Given the description of an element on the screen output the (x, y) to click on. 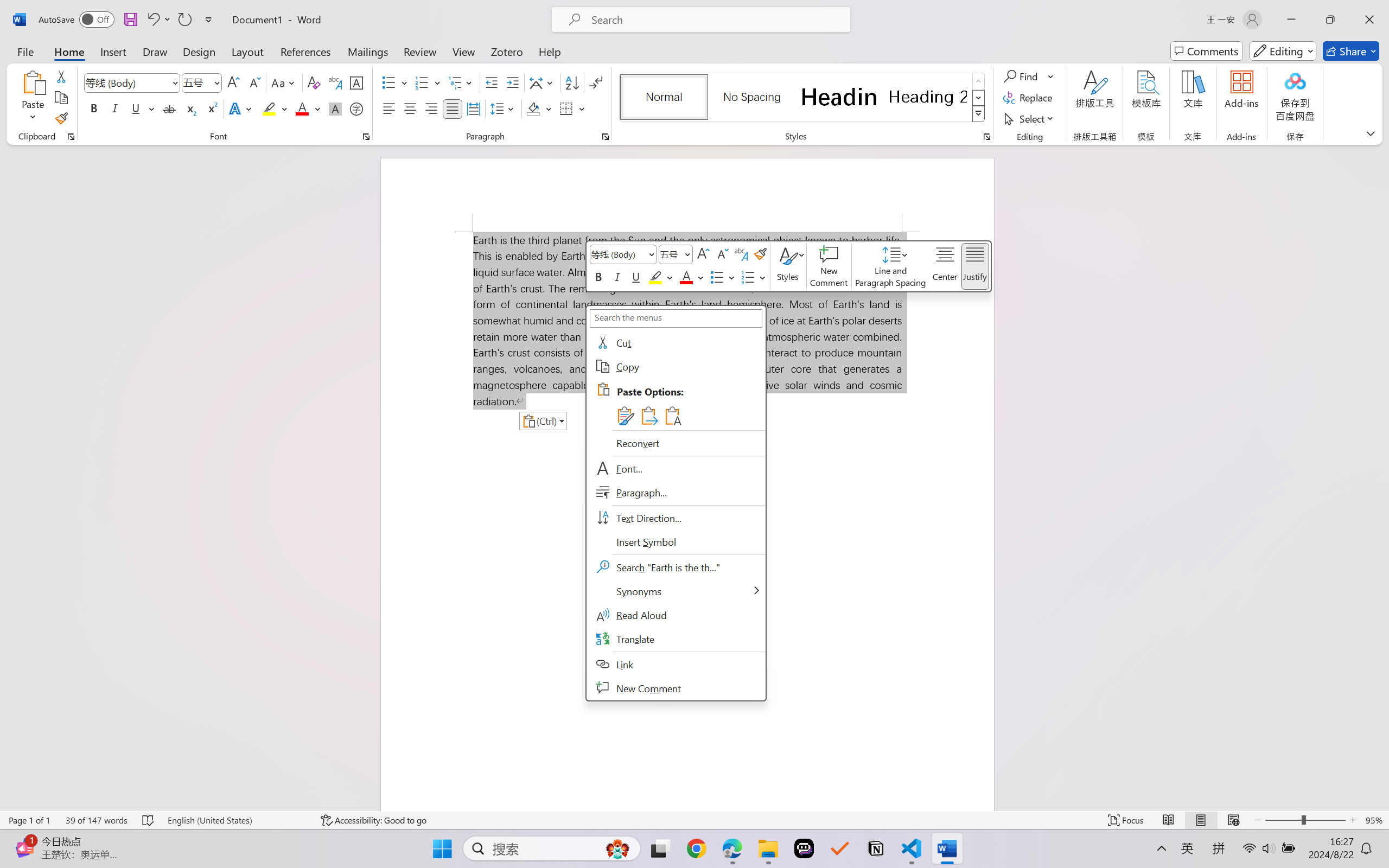
Styles (788, 266)
Row Down (978, 97)
Translate (675, 638)
Search "Earth is the th..." (675, 567)
Increase Indent (512, 82)
